Given the description of an element on the screen output the (x, y) to click on. 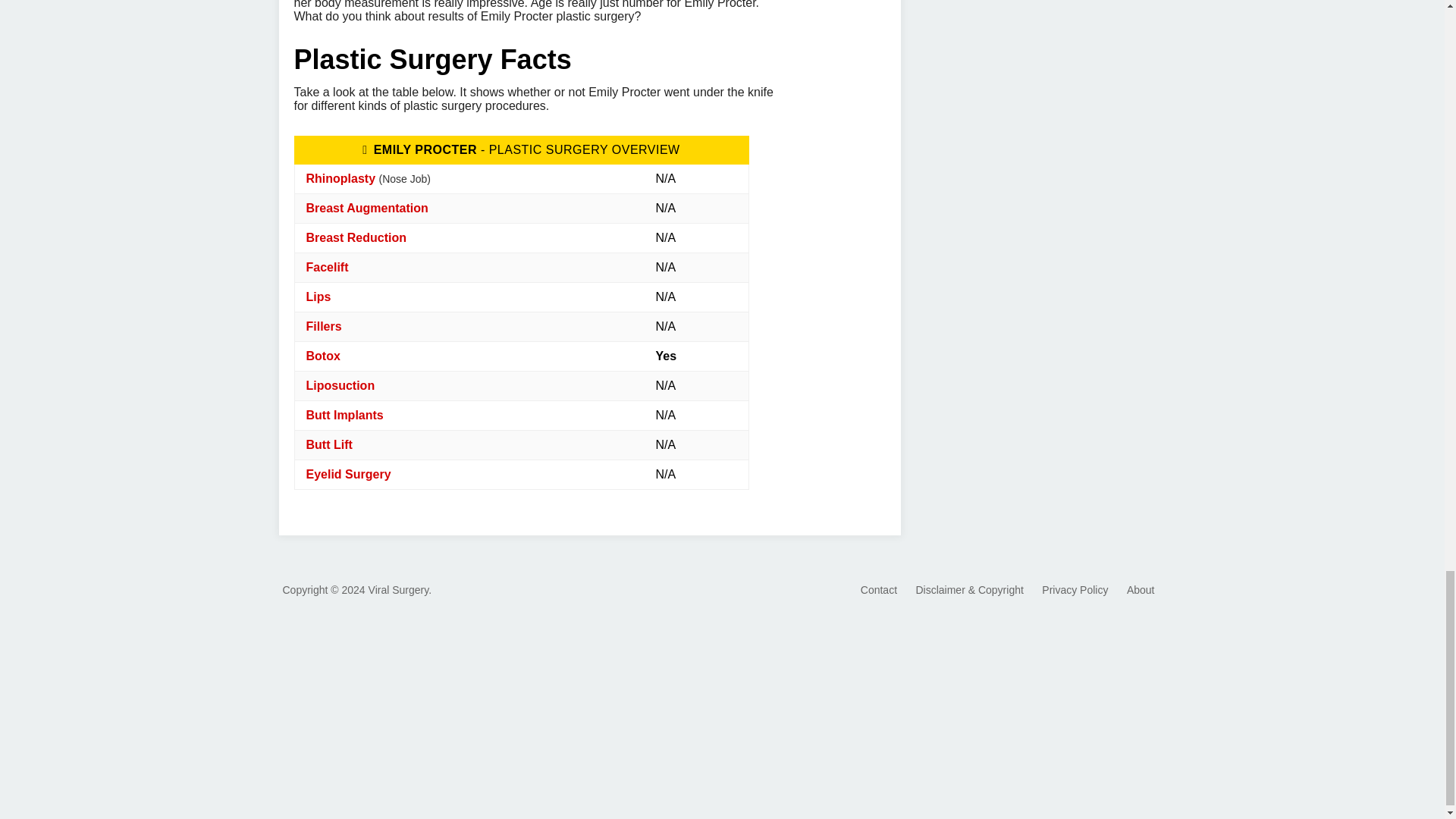
Breast Reduction (355, 237)
Botox (322, 355)
Butt Lift (328, 444)
Breast Augmentation (366, 207)
Butt Implants (344, 414)
Rhinoplasty (340, 178)
Liposuction (340, 385)
Facelift (327, 267)
Lips (318, 296)
Eyelid Surgery (348, 473)
